Given the description of an element on the screen output the (x, y) to click on. 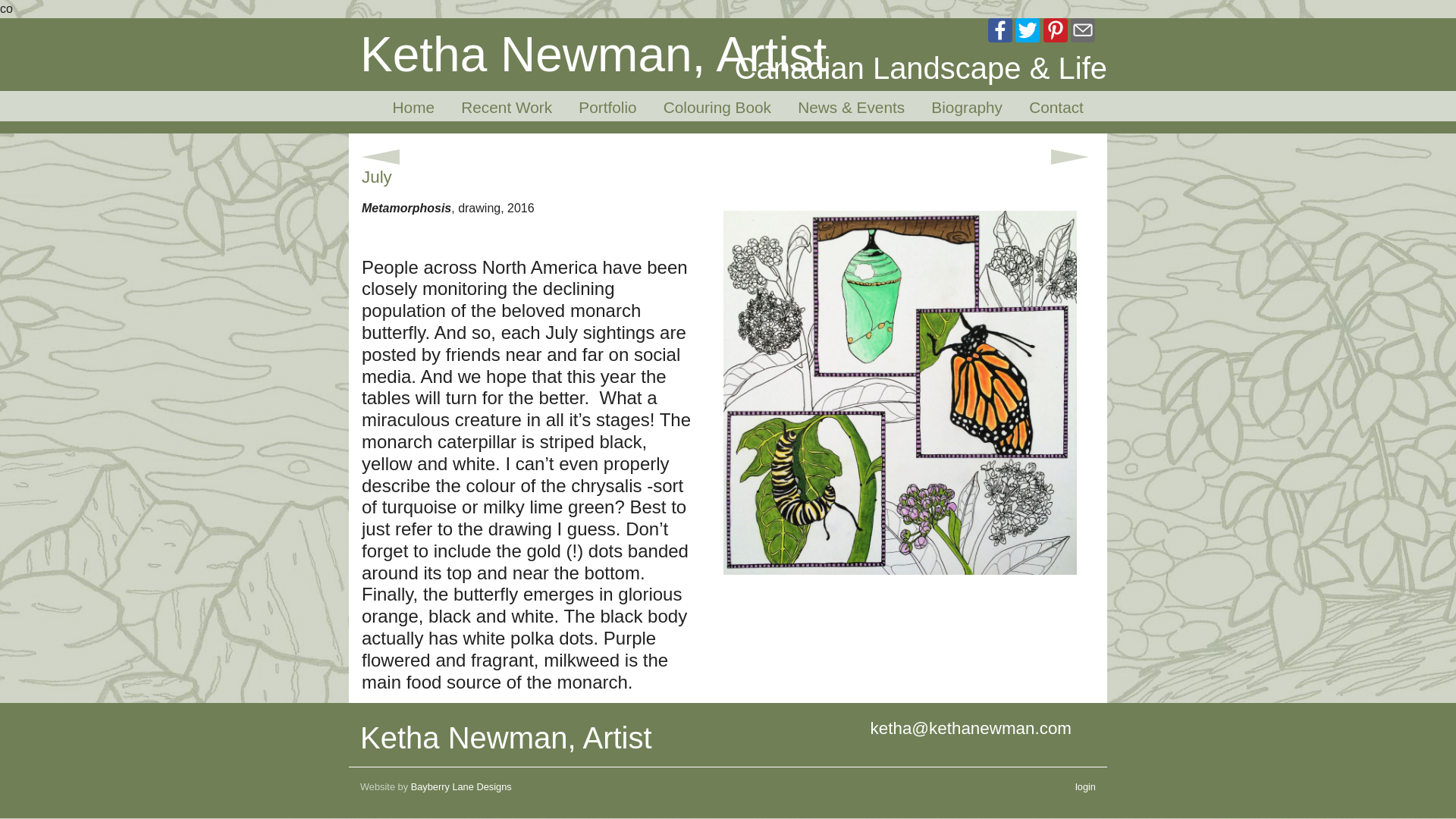
Send email (1082, 29)
Recent Work (506, 107)
Contact (1056, 107)
Home (413, 107)
Tweet (1026, 29)
Pin it (1055, 29)
Biography (967, 107)
Portfolio (607, 107)
login (1085, 786)
Share on Facebook (999, 29)
Colouring Book (716, 107)
Bayberry Lane Designs (461, 786)
